Given the description of an element on the screen output the (x, y) to click on. 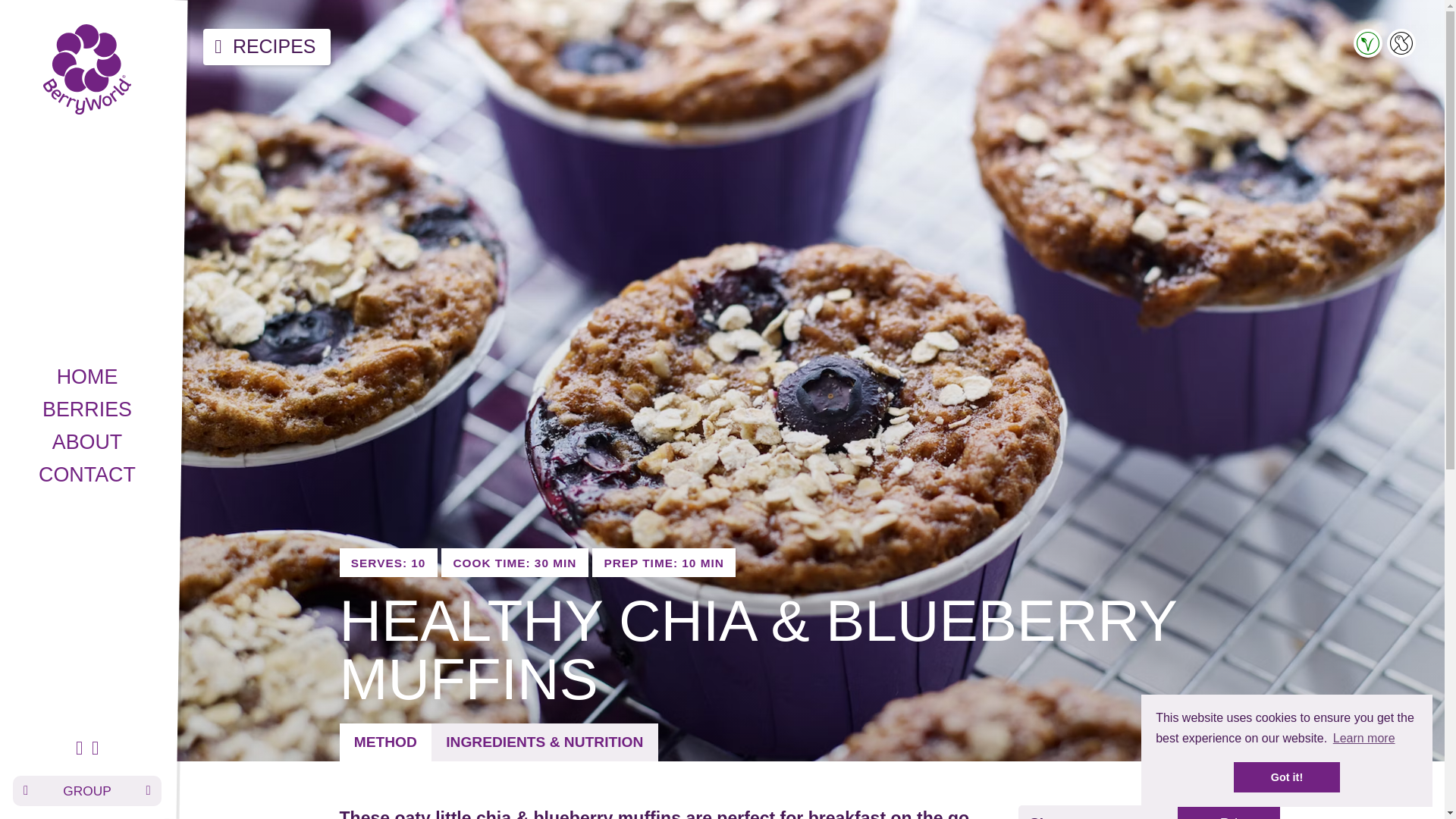
ABOUT (87, 440)
Vegetarian (1367, 42)
GROUP (86, 790)
CONTACT (87, 473)
METHOD (385, 742)
Nut Free (1401, 42)
Nut Free (1401, 49)
BERRIES (87, 407)
Print (1228, 812)
Got it! (1286, 777)
Select language (86, 790)
RECIPES (266, 46)
HOME (87, 375)
Learn more (1363, 738)
Vegetarian (1367, 49)
